Given the description of an element on the screen output the (x, y) to click on. 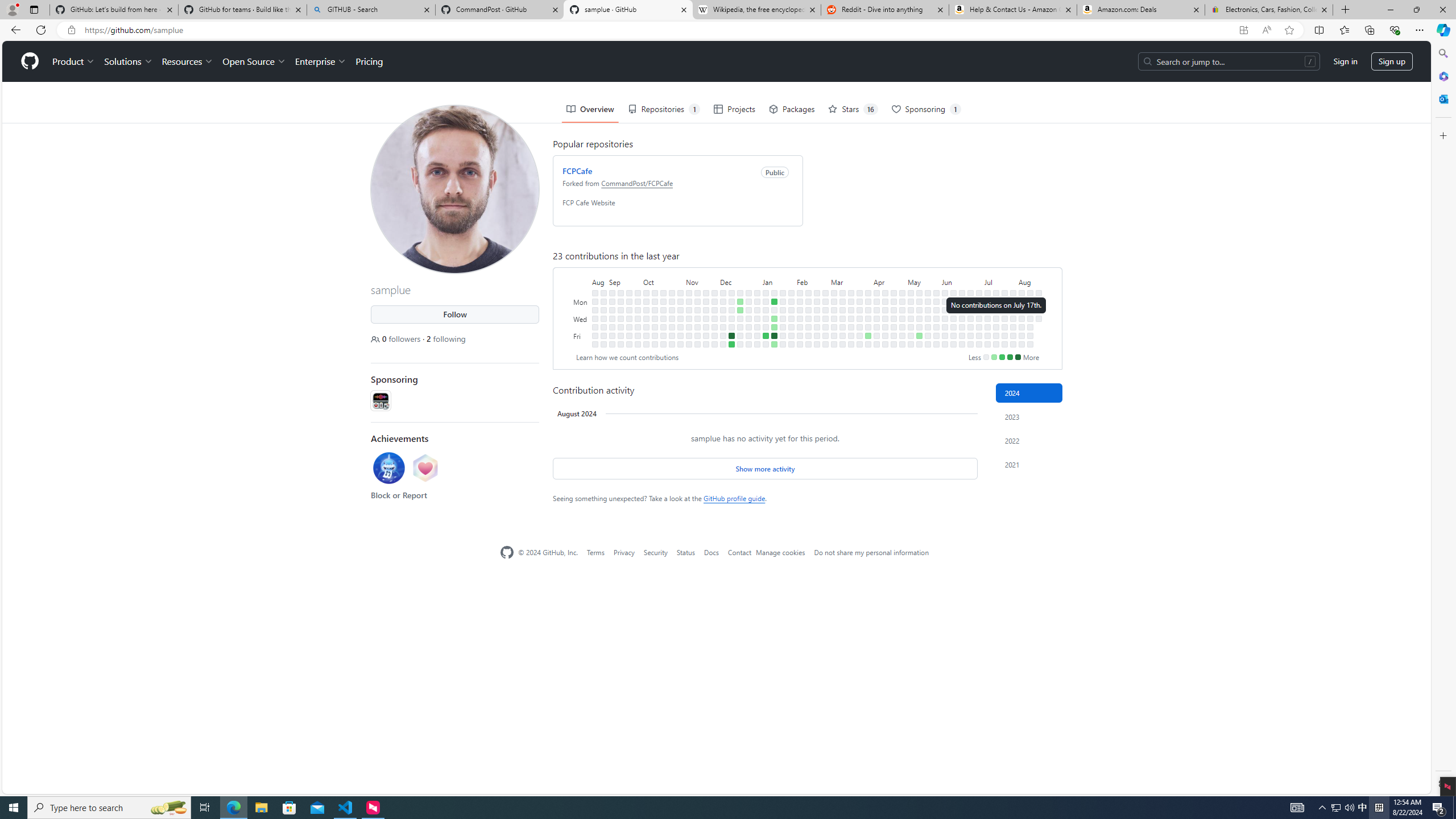
No contributions on December 4th. (723, 301)
No contributions on June 4th. (944, 309)
No contributions on September 27th. (637, 318)
No contributions on May 28th. (936, 309)
No contributions on January 7th. (765, 292)
Security (655, 551)
No contributions on June 25th. (970, 309)
No contributions on May 31st. (936, 335)
No contributions on June 3rd. (944, 301)
No contributions on April 1st. (867, 301)
